Given the description of an element on the screen output the (x, y) to click on. 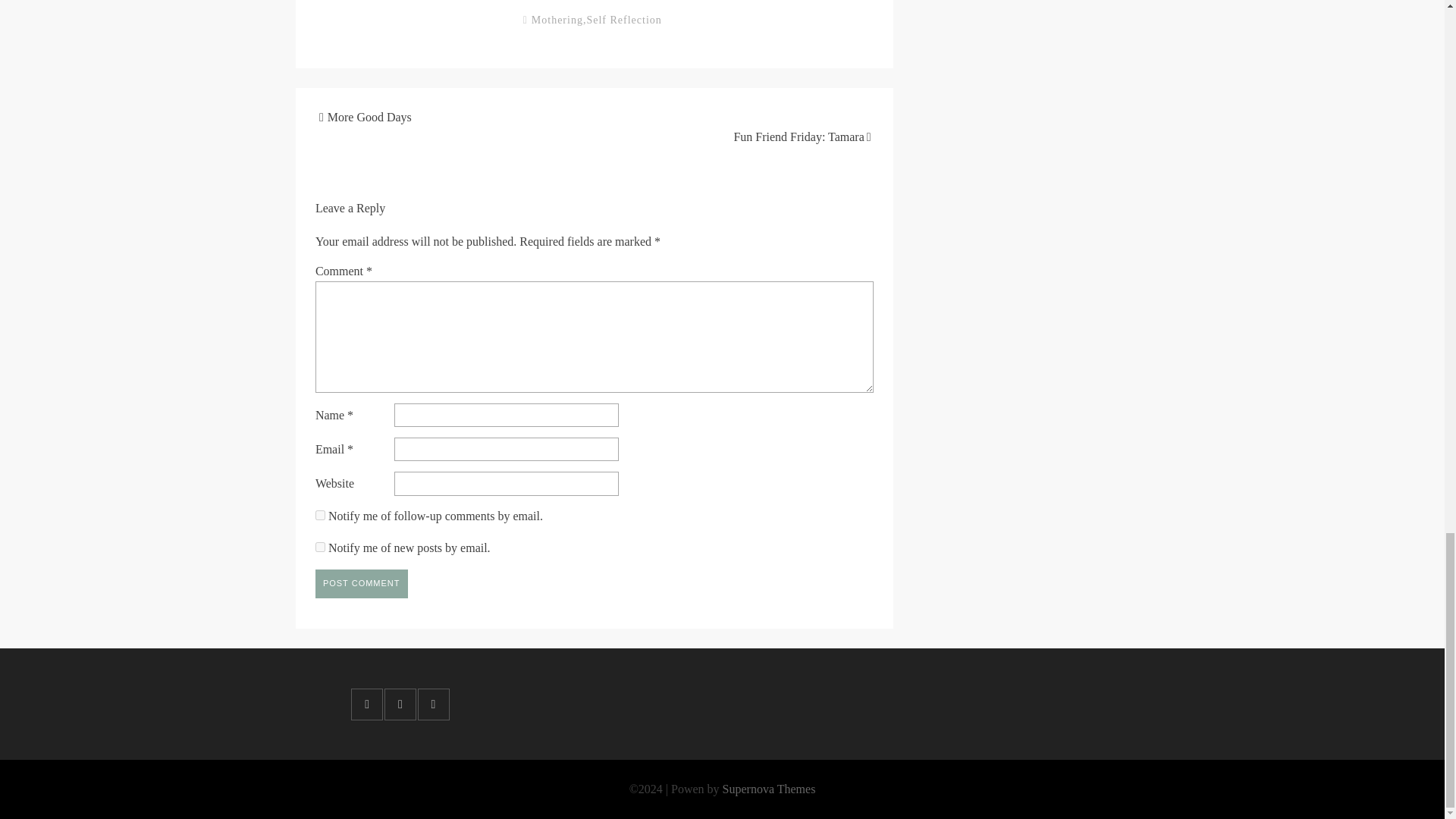
subscribe (319, 515)
Post Comment (361, 583)
subscribe (319, 547)
